Given the description of an element on the screen output the (x, y) to click on. 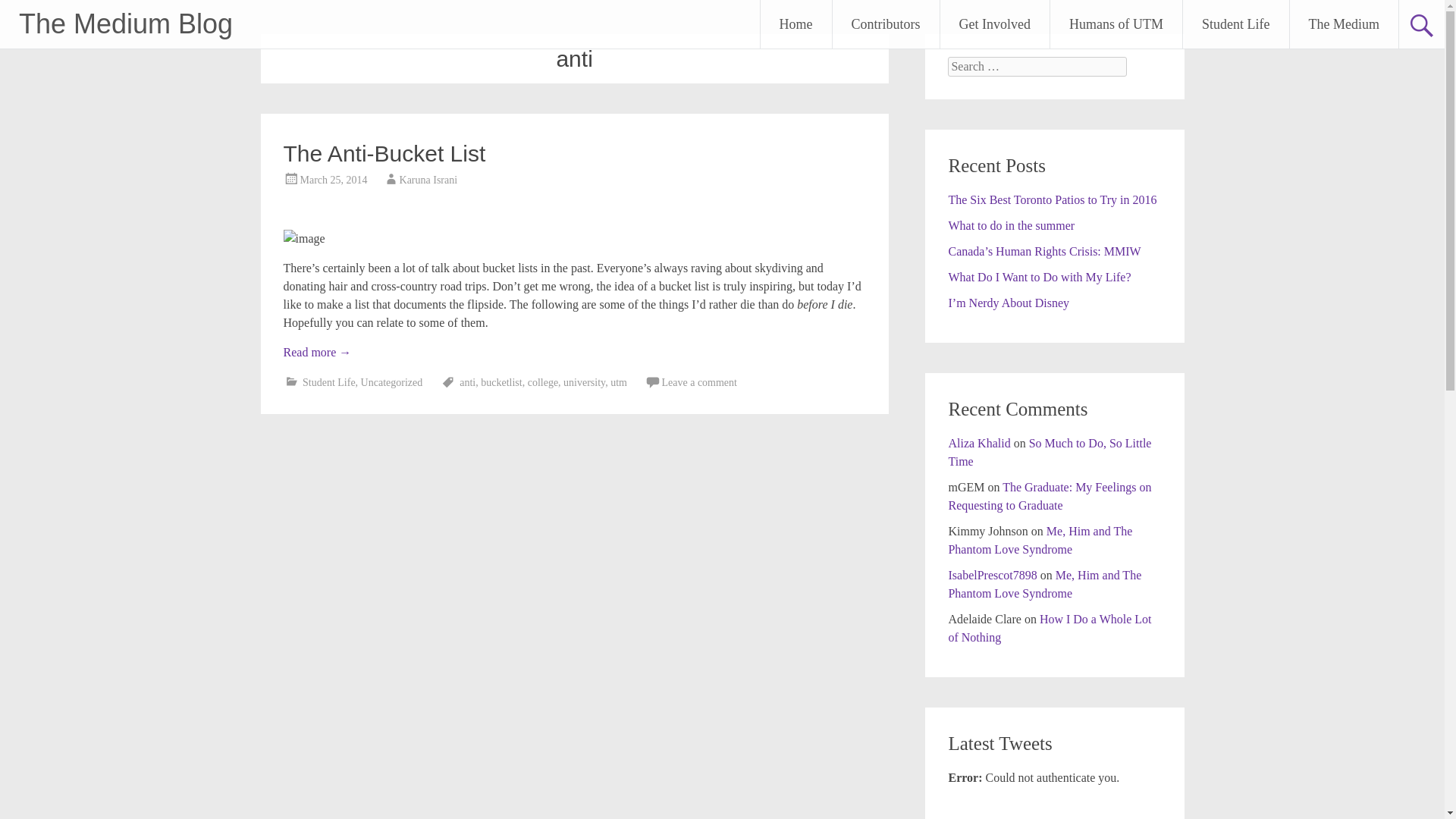
IsabelPrescot7898 (991, 574)
So Much to Do, So Little Time (1049, 451)
Contributors (885, 24)
What to do in the summer (1010, 225)
Student Life (328, 382)
Search (26, 12)
The Medium (1343, 24)
What Do I Want to Do with My Life? (1039, 277)
Uncategorized (392, 382)
March 25, 2014 (333, 179)
